Given the description of an element on the screen output the (x, y) to click on. 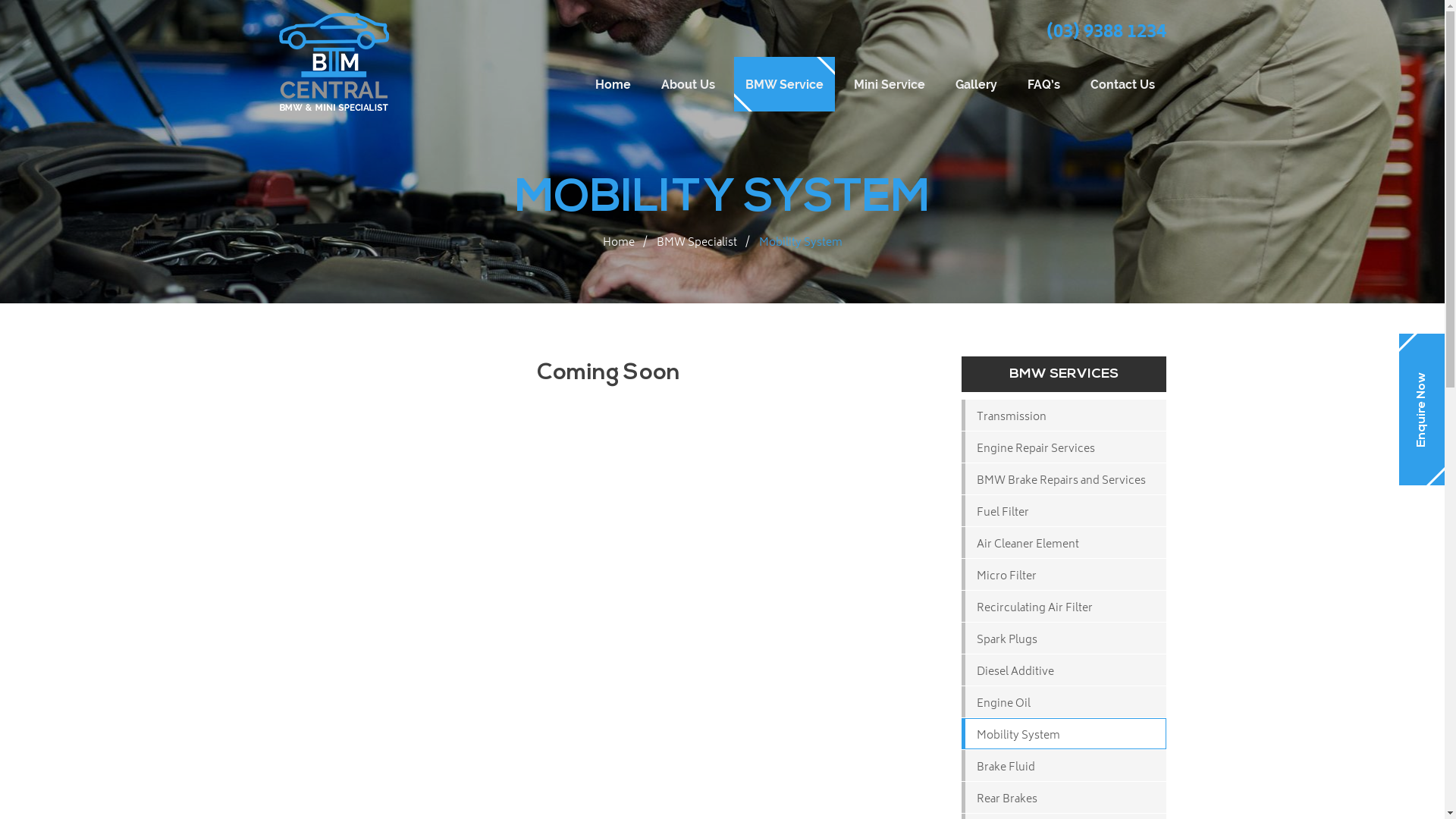
Mobility System Element type: text (1063, 733)
Engine Repair Services Element type: text (1063, 446)
Spark Plugs Element type: text (1063, 637)
Fuel Filter Element type: text (1063, 510)
BMW Specialist Element type: text (696, 243)
Gallery Element type: text (975, 83)
(03) 9388 1234 Element type: text (1106, 32)
Air Cleaner Element Element type: text (1063, 542)
Micro Filter Element type: text (1063, 573)
About Us Element type: text (687, 83)
Home Element type: text (612, 83)
Rear Brakes Element type: text (1063, 796)
Brake Fluid Element type: text (1063, 765)
Mini Service Element type: text (888, 83)
BMW Service Element type: text (784, 83)
Home Element type: text (617, 243)
Contact Us Element type: text (1121, 83)
Engine Oil Element type: text (1063, 701)
BMCentral Element type: hover (334, 61)
BMW Brake Repairs and Services Element type: text (1063, 478)
Diesel Additive Element type: text (1063, 669)
Recirculating Air Filter Element type: text (1063, 605)
Transmission Element type: text (1063, 414)
